Given the description of an element on the screen output the (x, y) to click on. 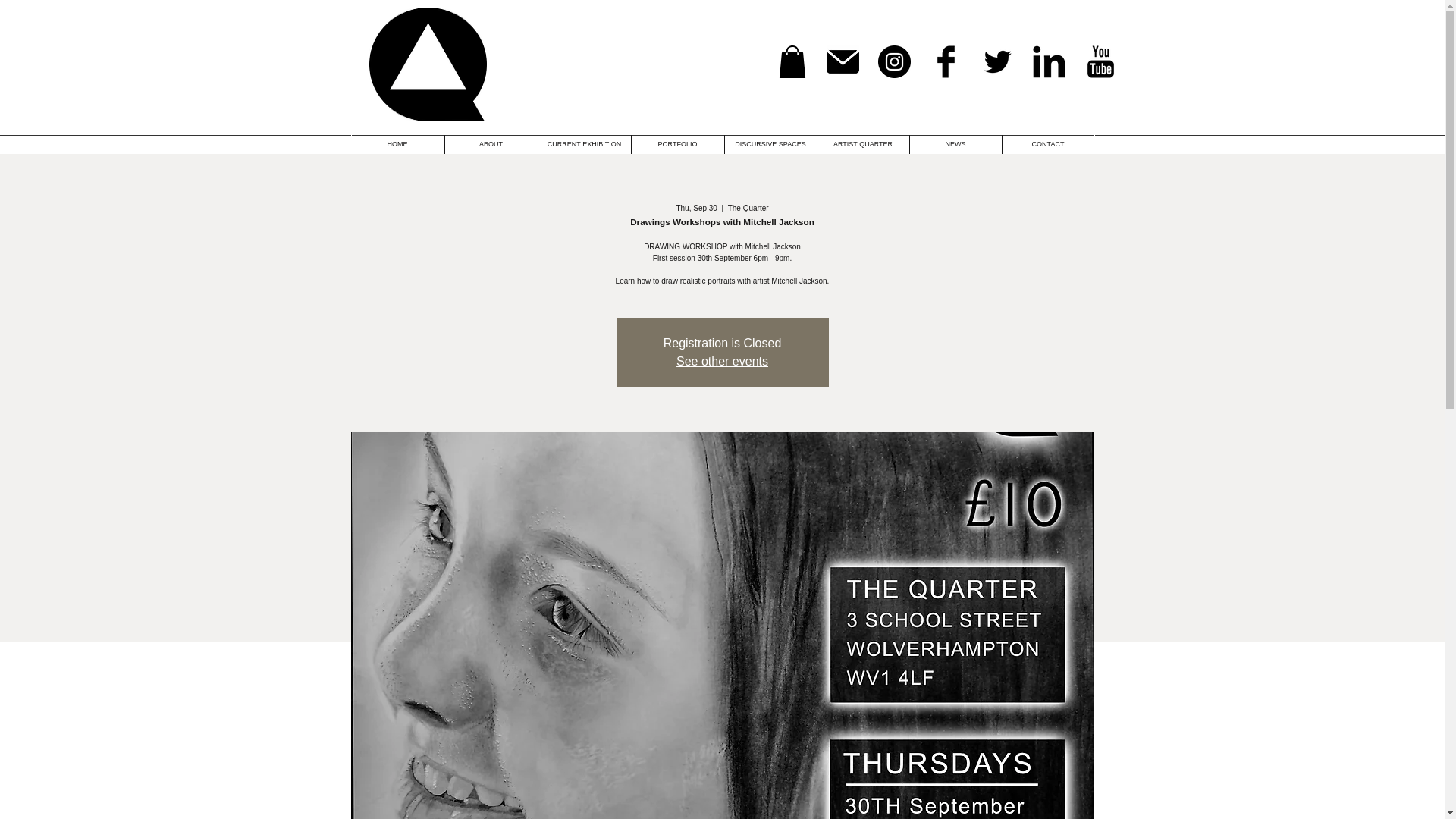
HOME (397, 144)
See other events (722, 360)
NEWS (955, 144)
CONTACT (1048, 144)
ARTIST QUARTER (862, 144)
CURRENT EXHIBITION (584, 144)
PORTFOLIO (676, 144)
ABOUT (490, 144)
